Given the description of an element on the screen output the (x, y) to click on. 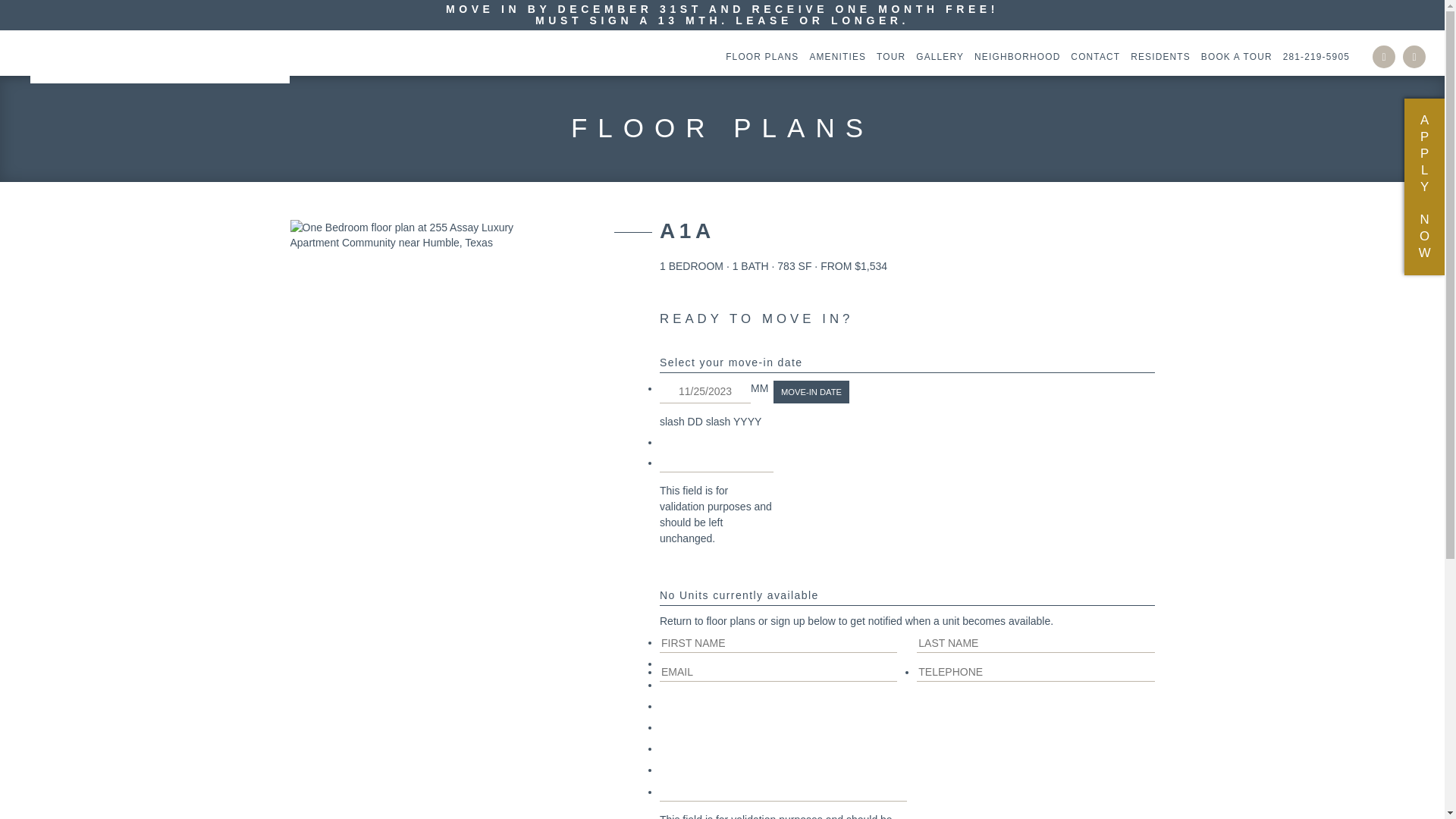
A1A Element type: text (690, 232)
RESIDENTS Element type: text (1156, 56)
TOUR Element type: text (887, 56)
AMENITIES Element type: text (833, 56)
FLOOR PLANS Element type: text (758, 56)
NEIGHBORHOOD Element type: text (1013, 56)
281-219-5905 Element type: text (1312, 56)
CONTACT Element type: text (1091, 56)
255 ASSAY Element type: text (159, 56)
A
P
P
L
Y
 N
O
W Element type: text (1424, 186)
floor plans Element type: text (730, 621)
BOOK A TOUR Element type: text (1232, 56)
GALLERY Element type: text (935, 56)
Move-In Date Element type: text (811, 391)
